Given the description of an element on the screen output the (x, y) to click on. 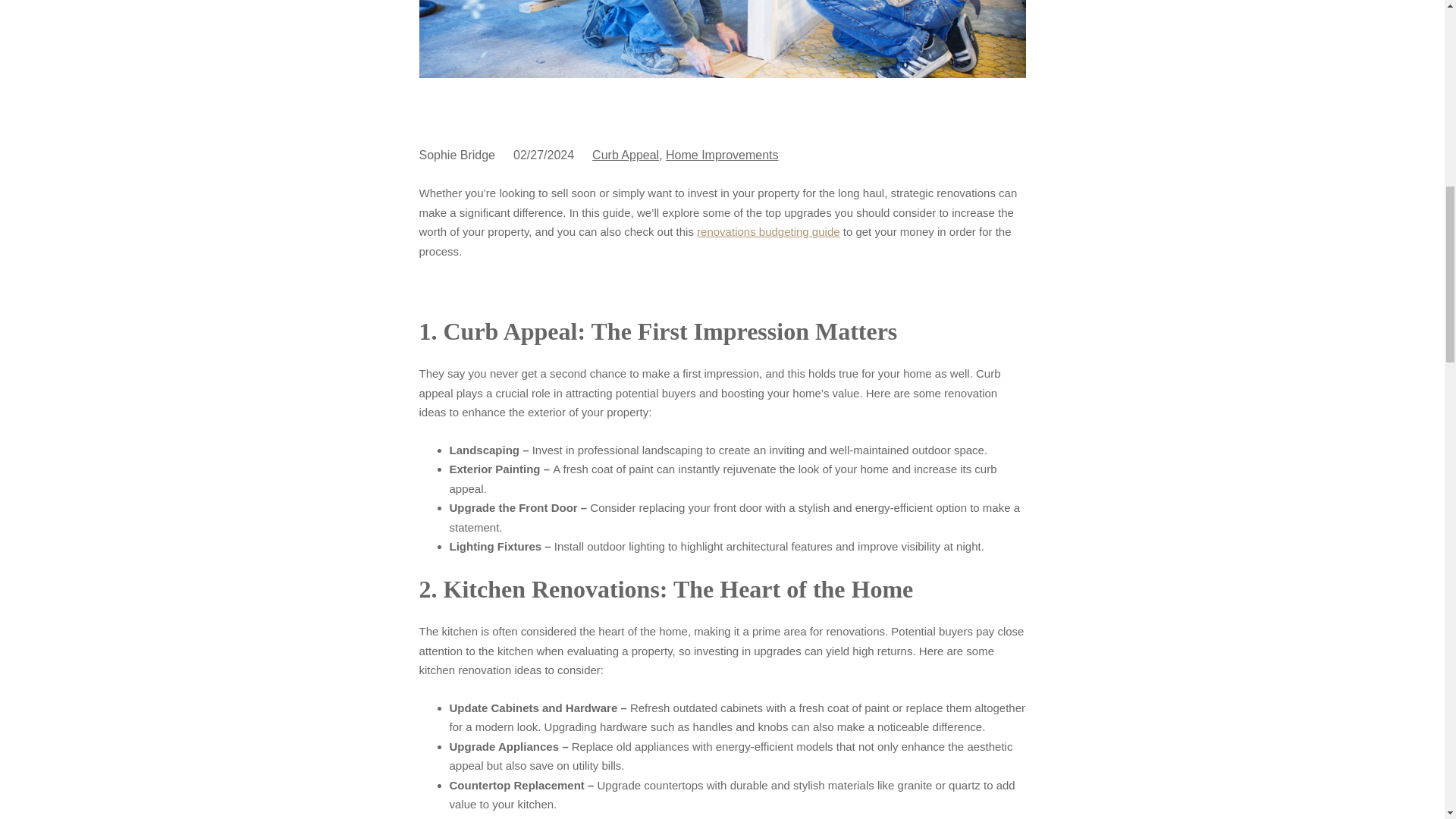
renovations budgeting guide (768, 231)
Curb Appeal (625, 154)
Home Improvements (721, 154)
